Given the description of an element on the screen output the (x, y) to click on. 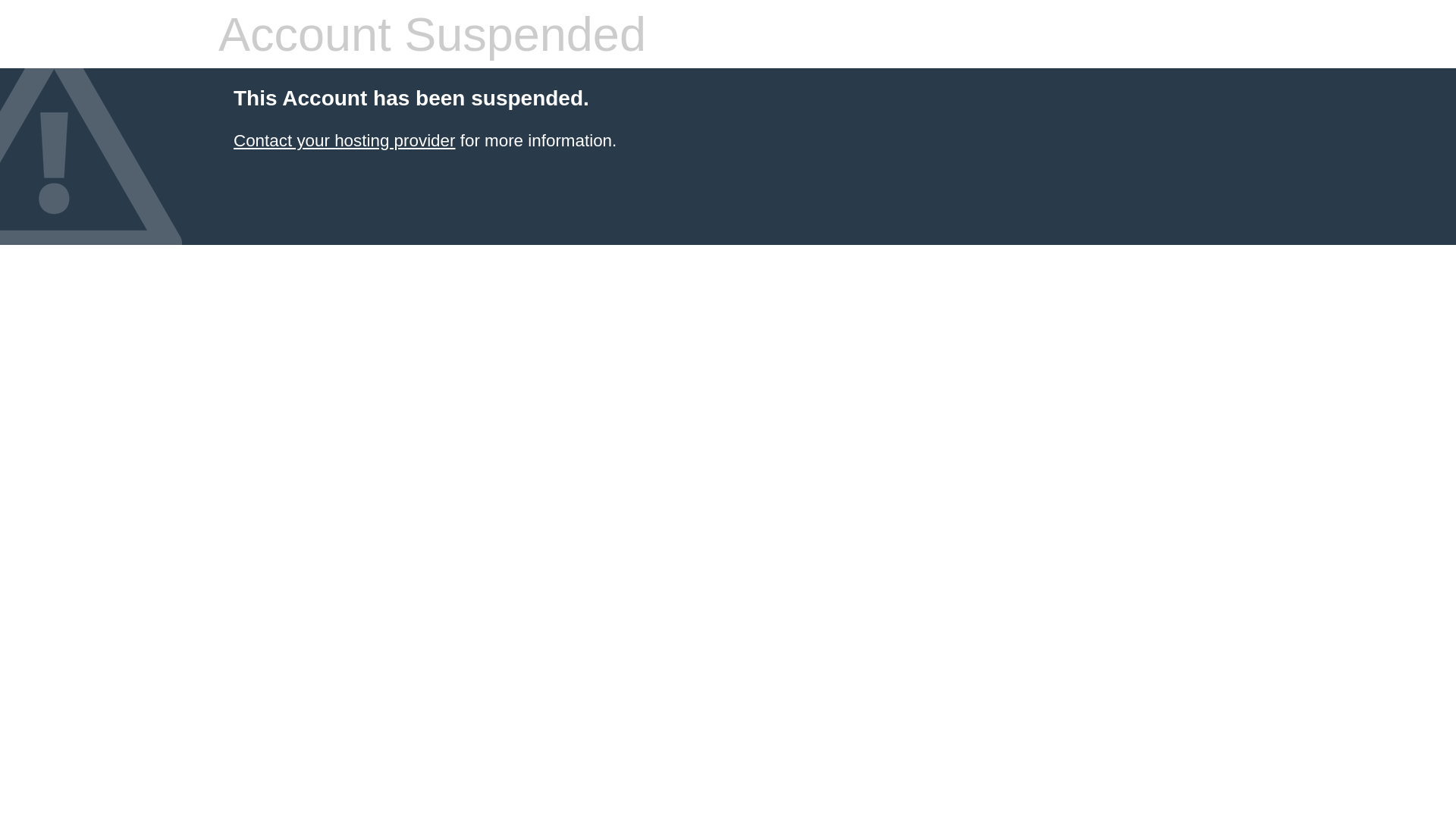
Contact your hosting provider Element type: text (344, 140)
